Given the description of an element on the screen output the (x, y) to click on. 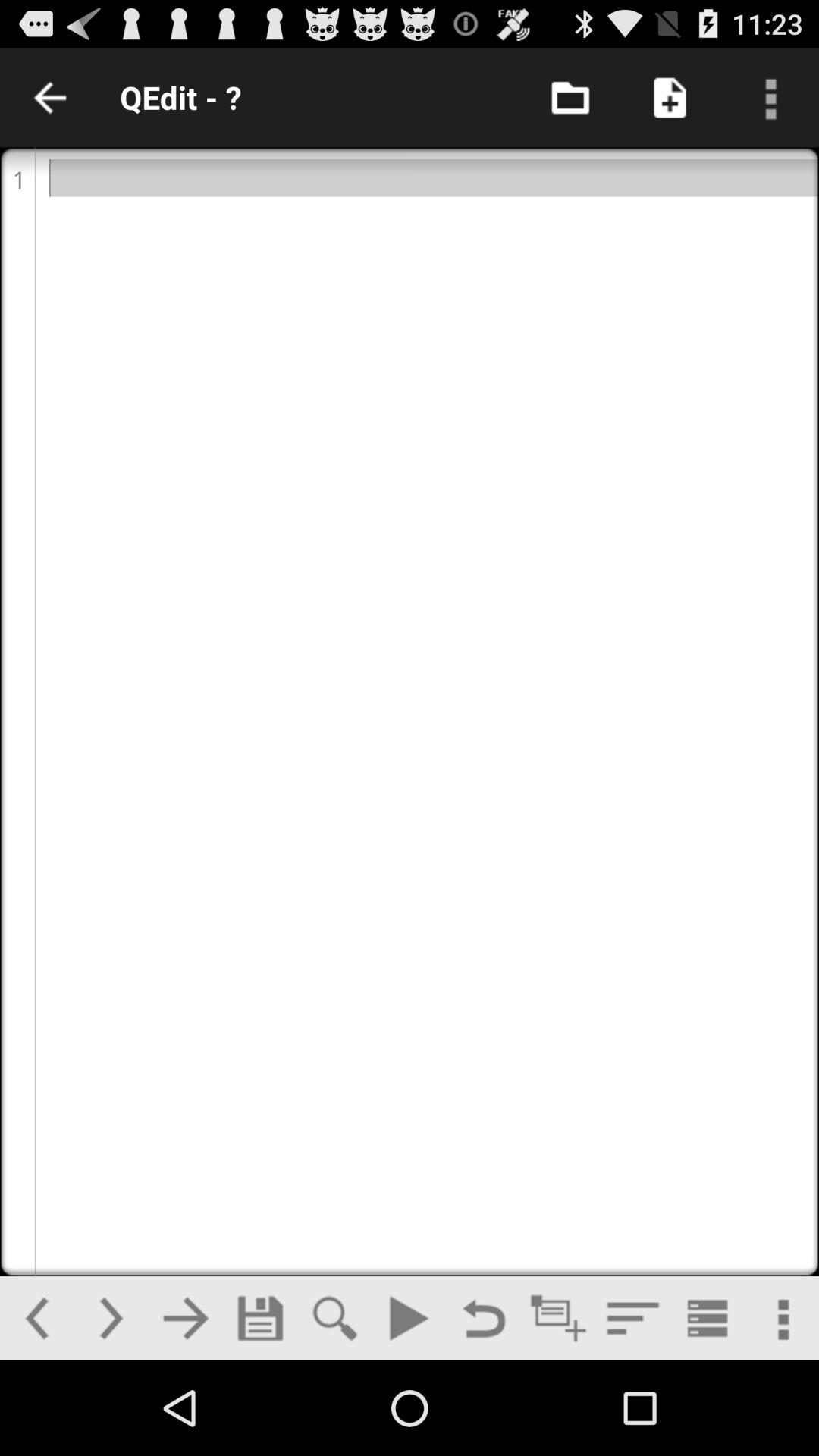
launch item at the center (409, 711)
